Given the description of an element on the screen output the (x, y) to click on. 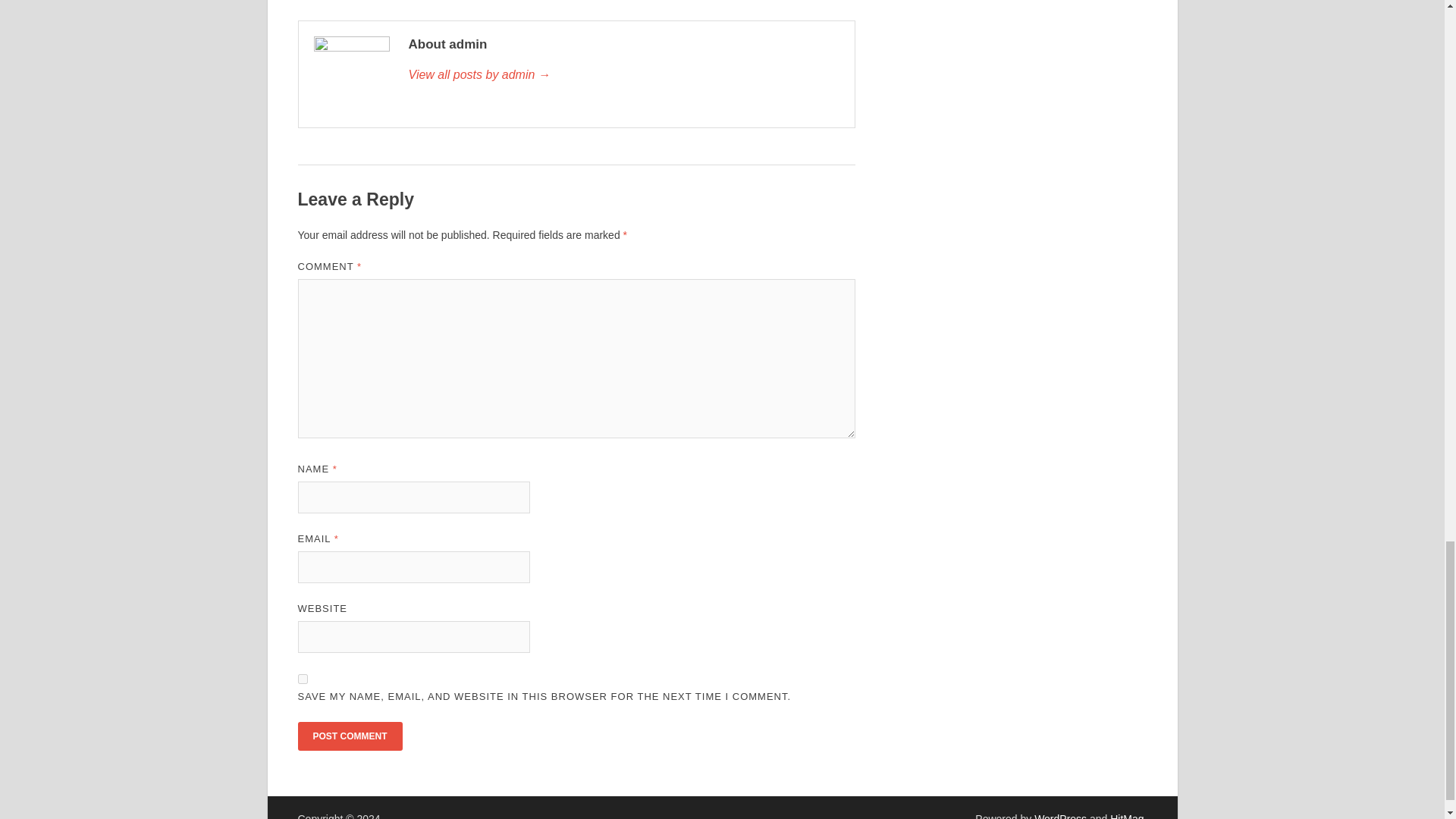
admin (622, 75)
Post Comment (349, 736)
yes (302, 678)
